Given the description of an element on the screen output the (x, y) to click on. 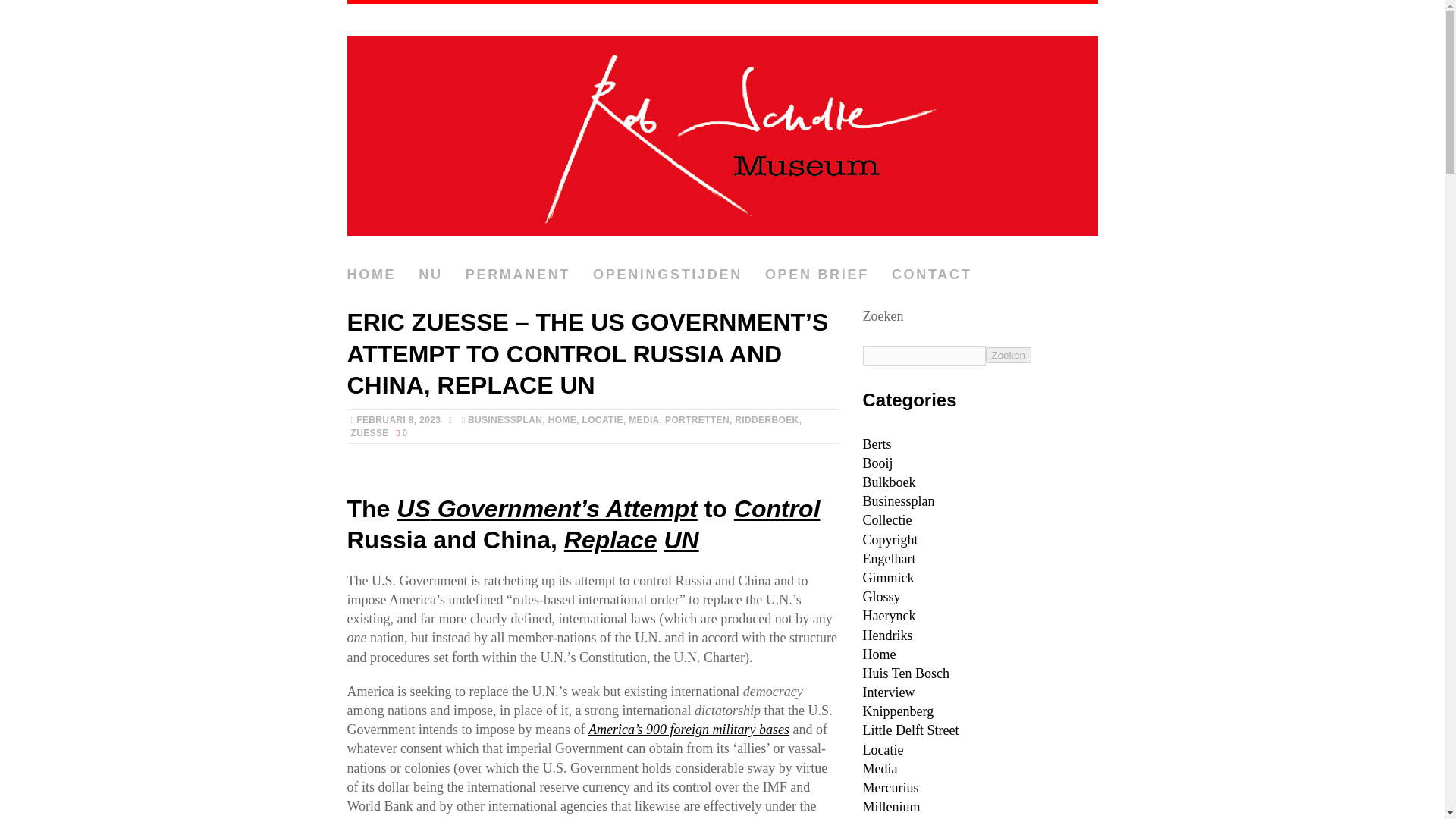
RIDDERBOEK (766, 419)
HOME (562, 419)
OPEN BRIEF (817, 274)
PORTRETTEN (697, 419)
MEDIA (643, 419)
LOCATIE (601, 419)
PERMANENT (517, 274)
OPENINGSTIJDEN (667, 274)
BUSINESSPLAN (504, 419)
